Given the description of an element on the screen output the (x, y) to click on. 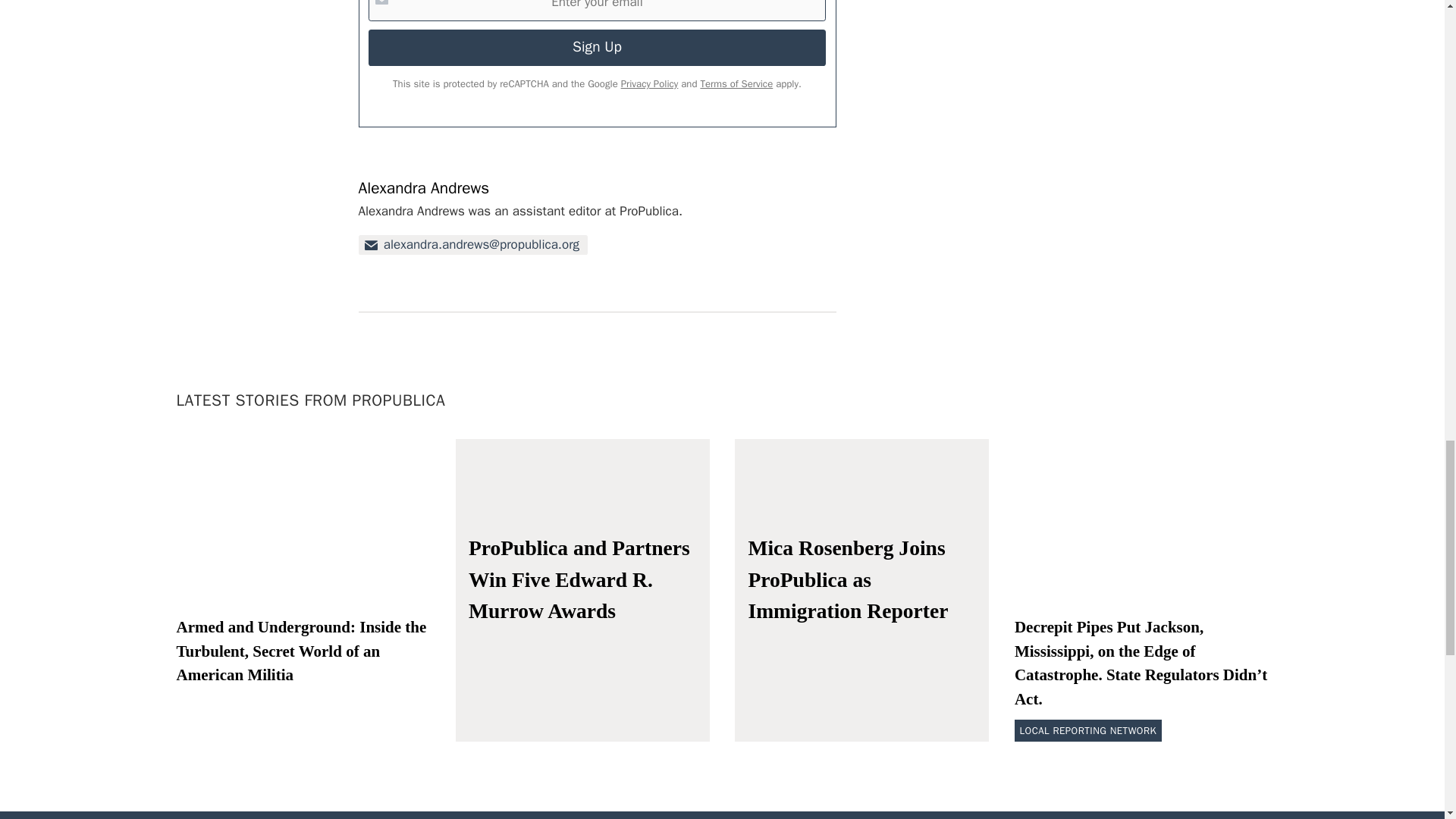
Privacy Policy (649, 83)
Alexandra Andrews (423, 188)
Sign Up (596, 47)
Sign Up (596, 47)
Email (473, 245)
Terms of Service (736, 83)
